Given the description of an element on the screen output the (x, y) to click on. 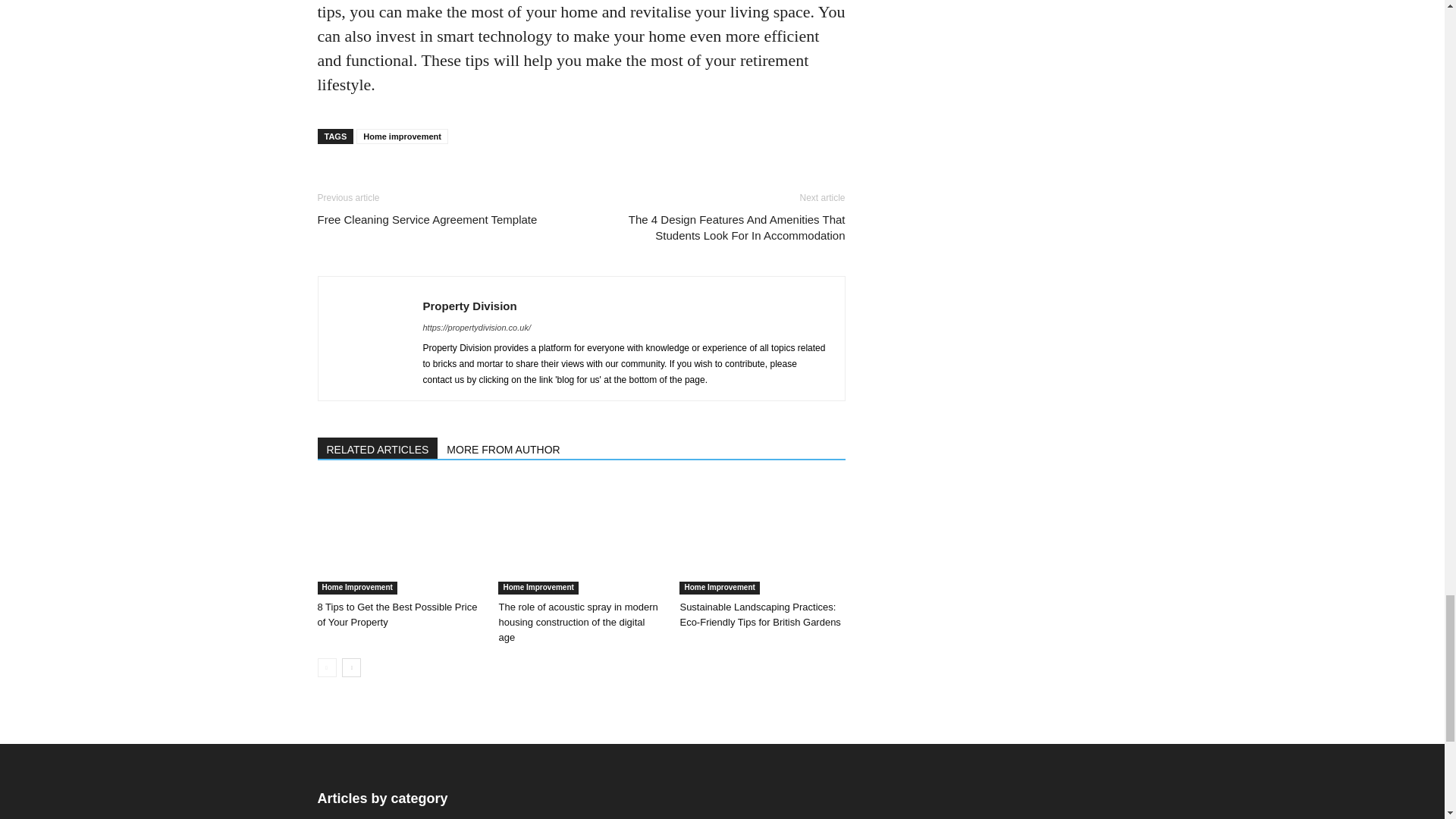
Free Cleaning Service Agreement Template (427, 219)
8 Tips to Get the Best Possible Price of Your Property (397, 614)
Home improvement (402, 136)
bottomFacebookLike (430, 177)
8 Tips to Get the Best Possible Price of Your Property (399, 537)
